Given the description of an element on the screen output the (x, y) to click on. 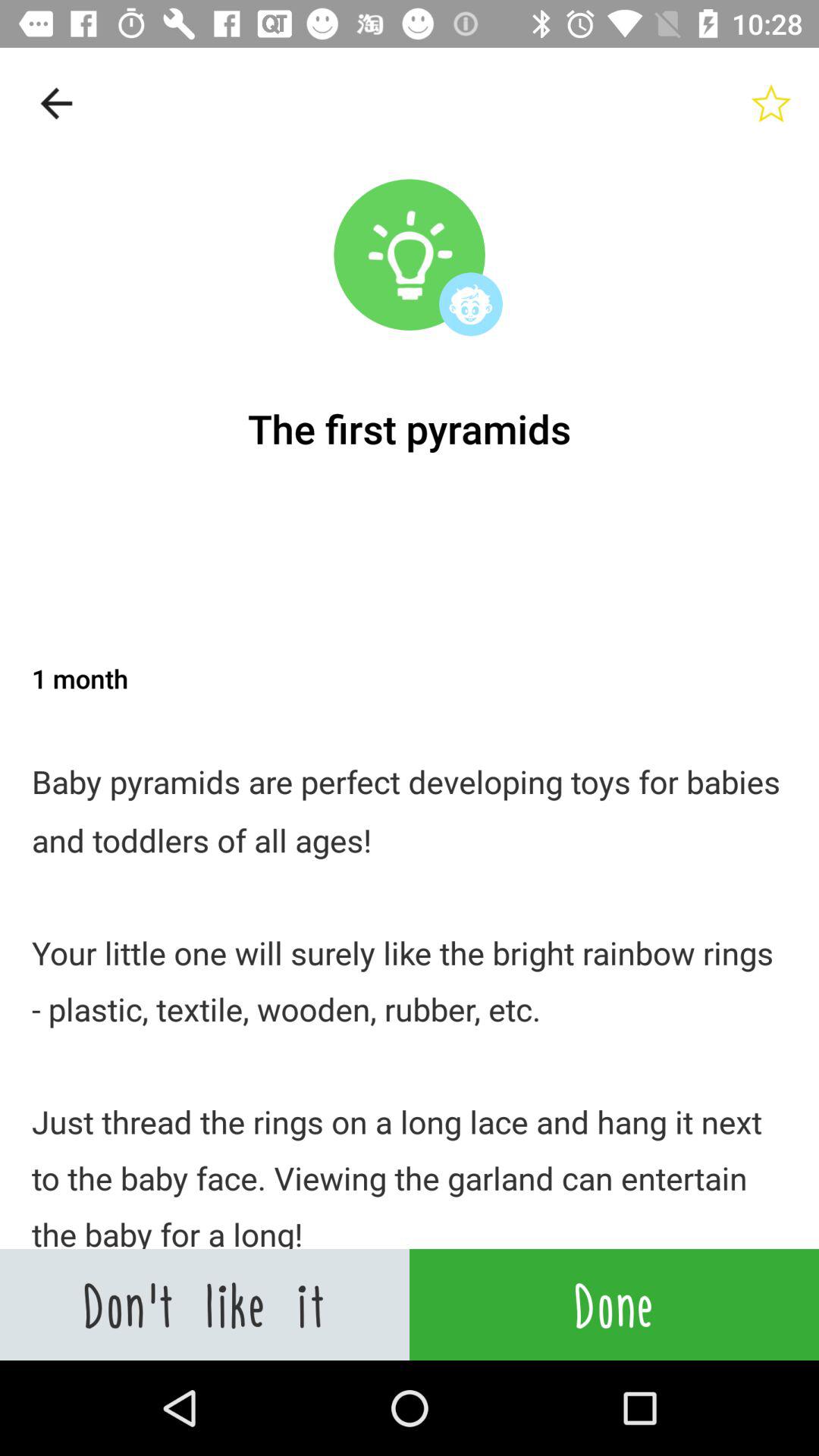
swipe until don t like (204, 1304)
